Given the description of an element on the screen output the (x, y) to click on. 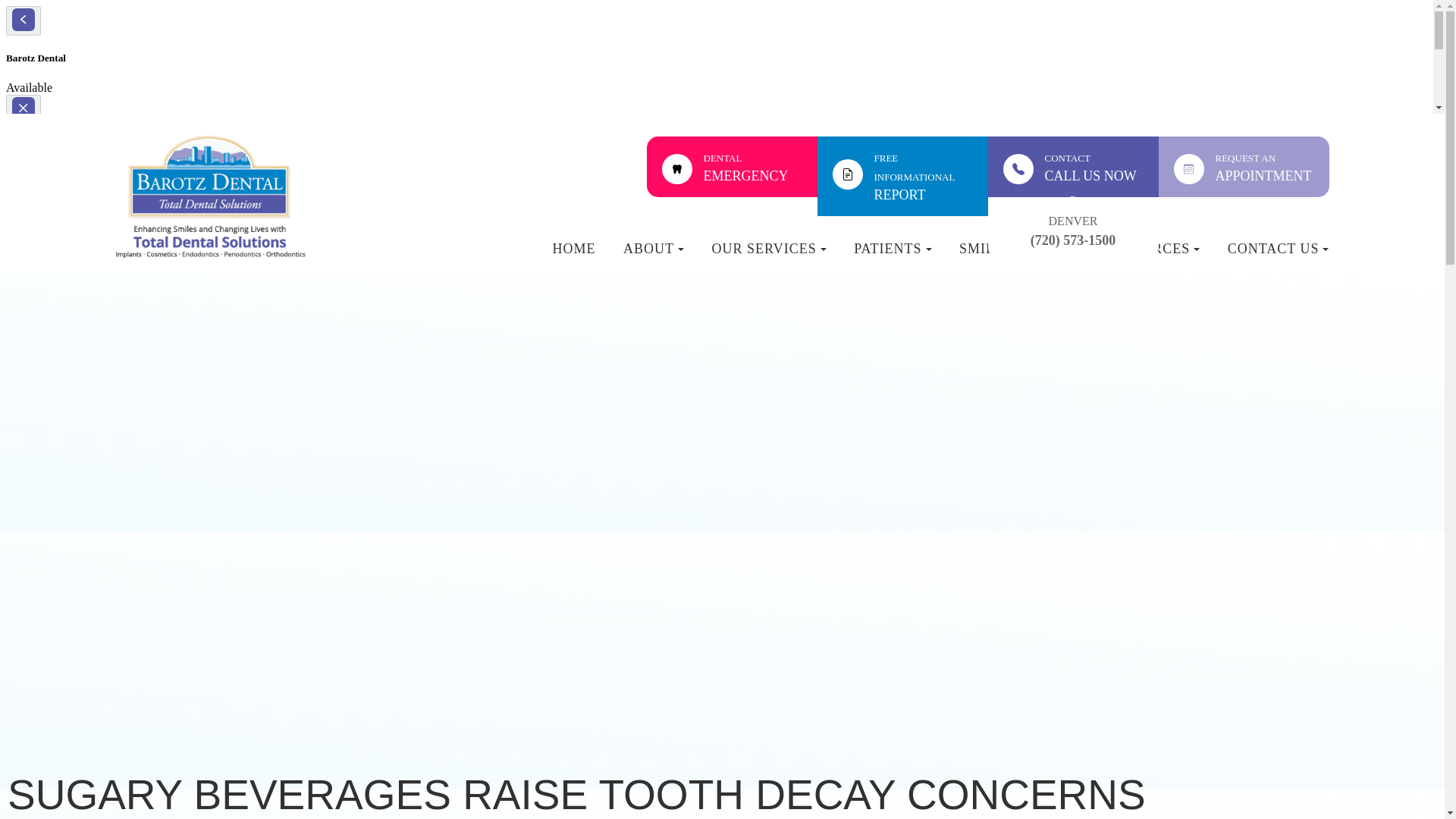
ABOUT (653, 255)
PATIENTS (902, 176)
RESOURCES (892, 255)
OUR SERVICES (1151, 255)
HOME (1243, 166)
CONTACT US (769, 255)
